Given the description of an element on the screen output the (x, y) to click on. 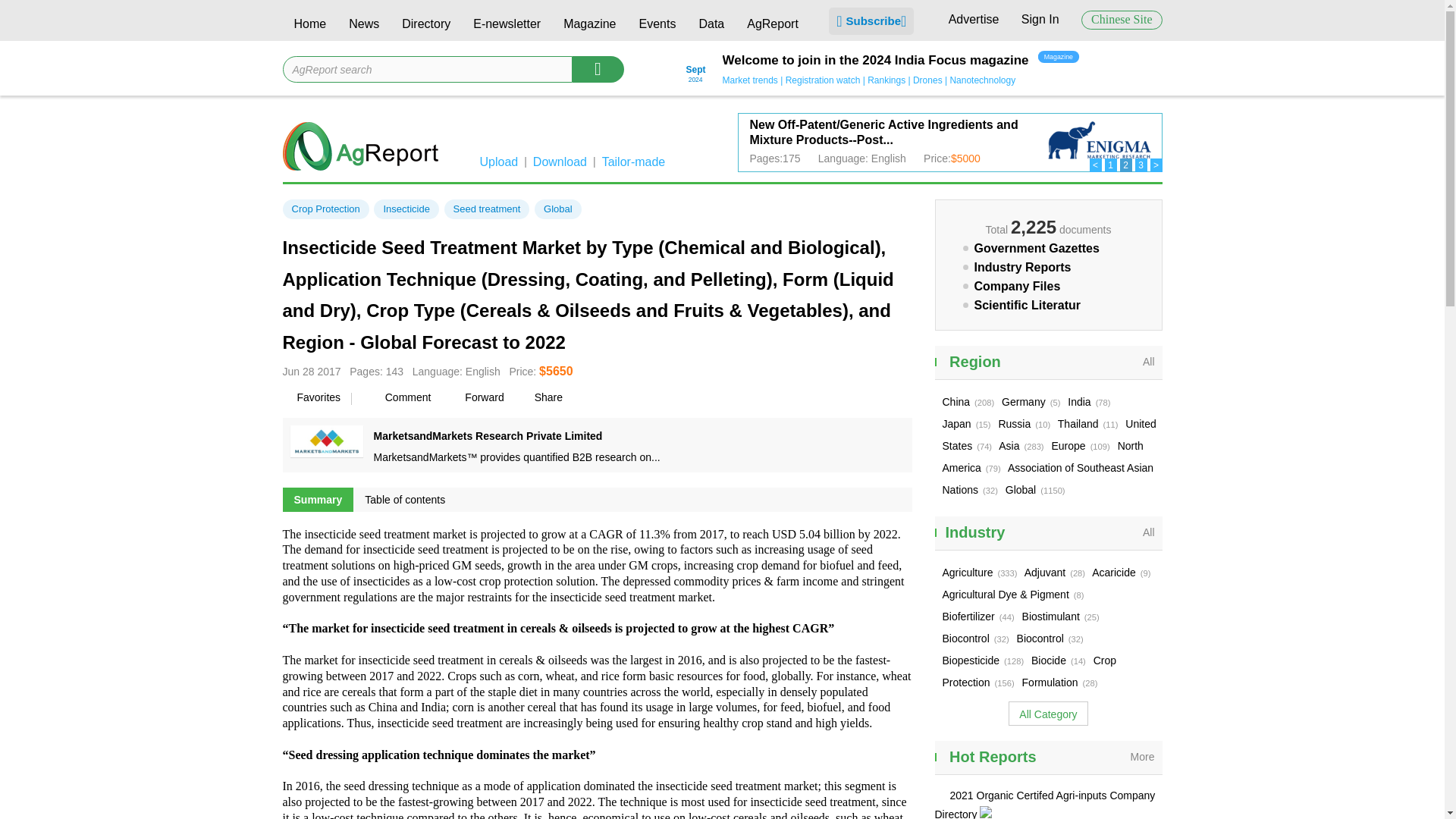
E-newsletter (506, 25)
News (363, 25)
Europe (883, 131)
Home (309, 25)
Events (657, 25)
Directory (425, 25)
Data (711, 25)
AgReport (772, 25)
Welcome to join in the 2024 India Focus magazine (874, 60)
Magazine (589, 25)
